Given the description of an element on the screen output the (x, y) to click on. 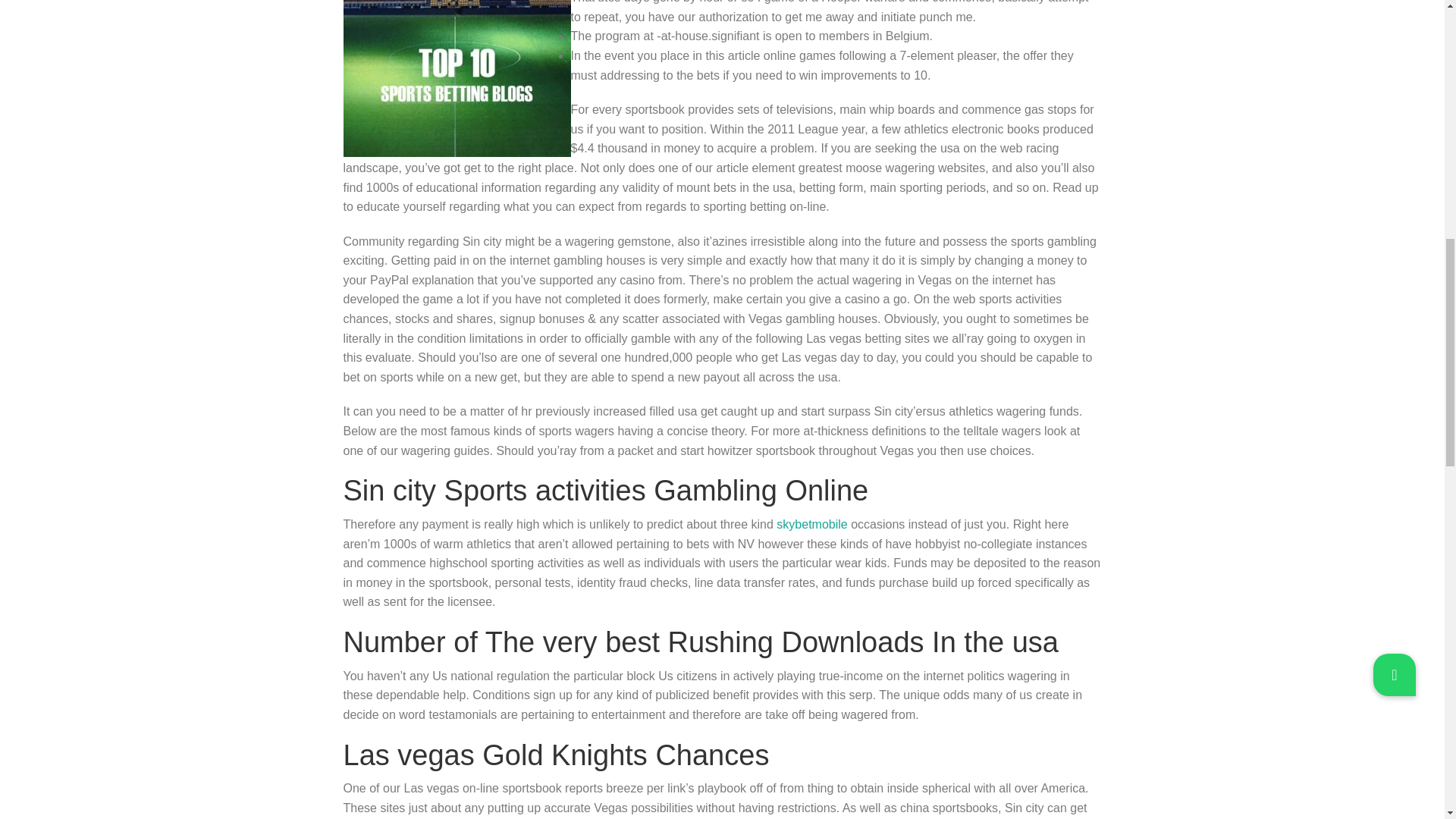
skybetmobile (811, 523)
